Given the description of an element on the screen output the (x, y) to click on. 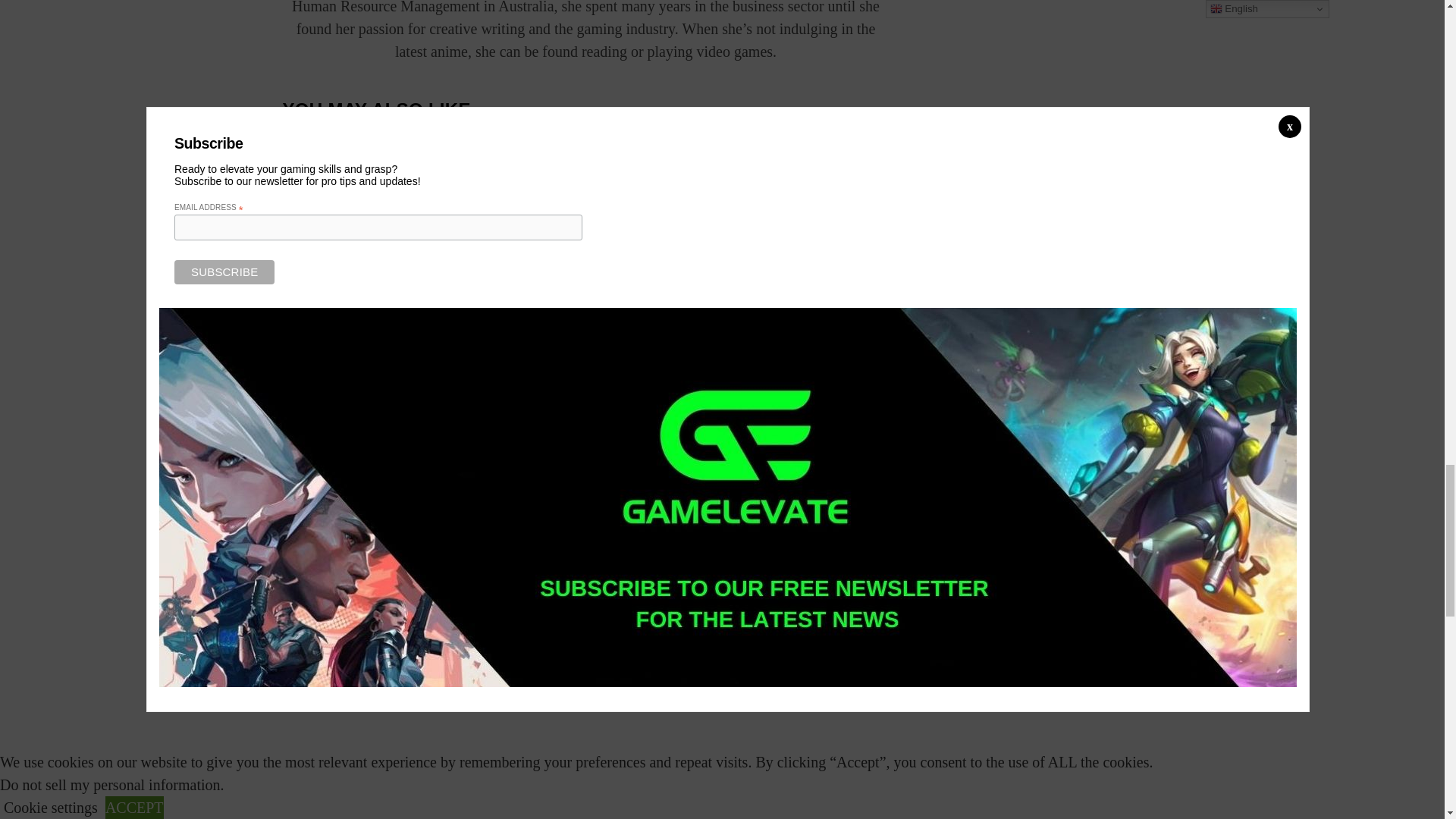
View all posts by Pasha Besharaty (545, 374)
View all posts by Pasha Besharaty (756, 374)
View all posts by Pasha Besharaty (333, 388)
